Given the description of an element on the screen output the (x, y) to click on. 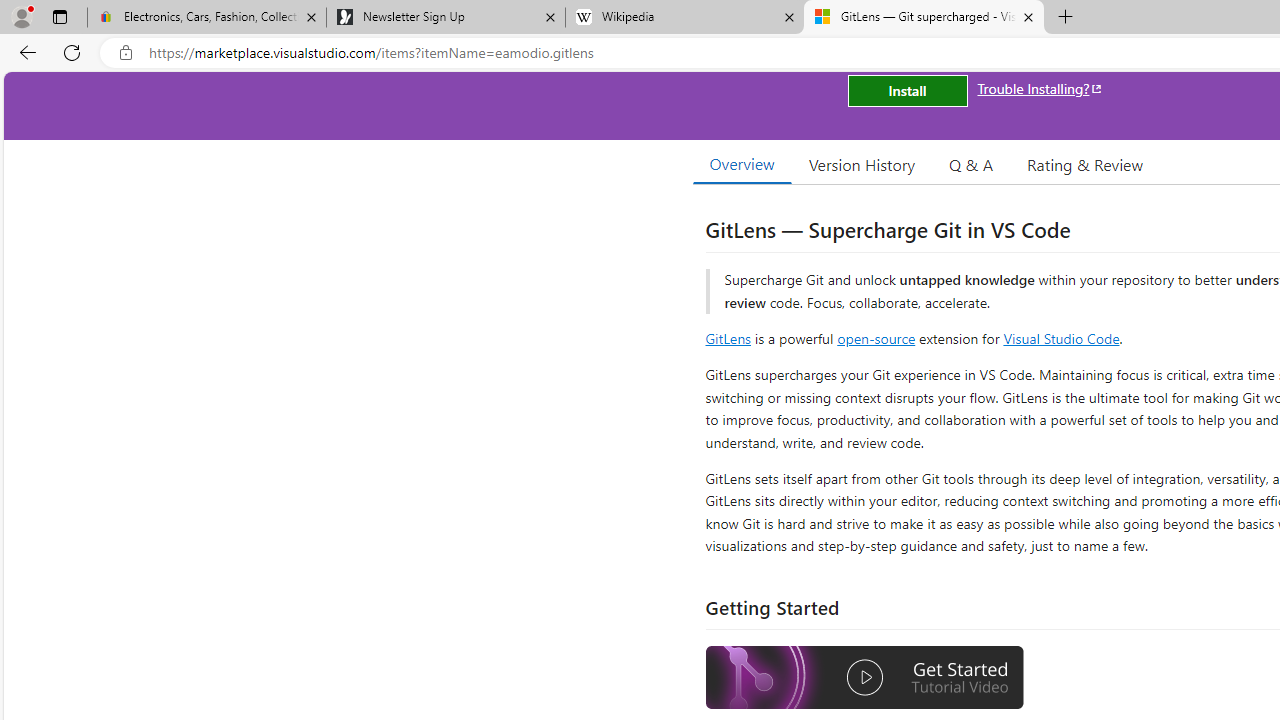
Visual Studio Code (1061, 337)
Version History (862, 164)
Rating & Review (1084, 164)
